Given the description of an element on the screen output the (x, y) to click on. 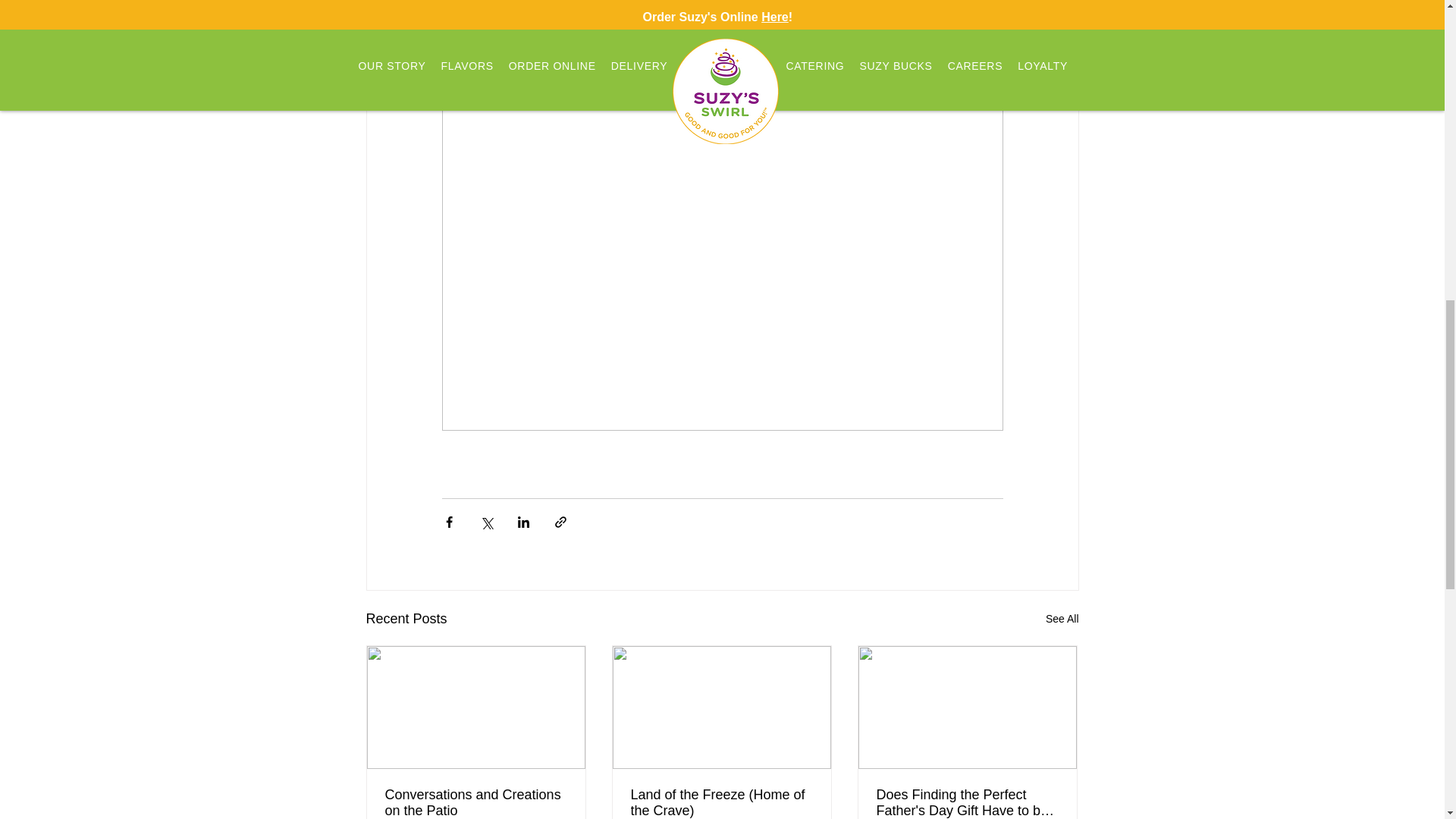
See All (1061, 618)
Conversations and Creations on the Patio (476, 803)
